Given the description of an element on the screen output the (x, y) to click on. 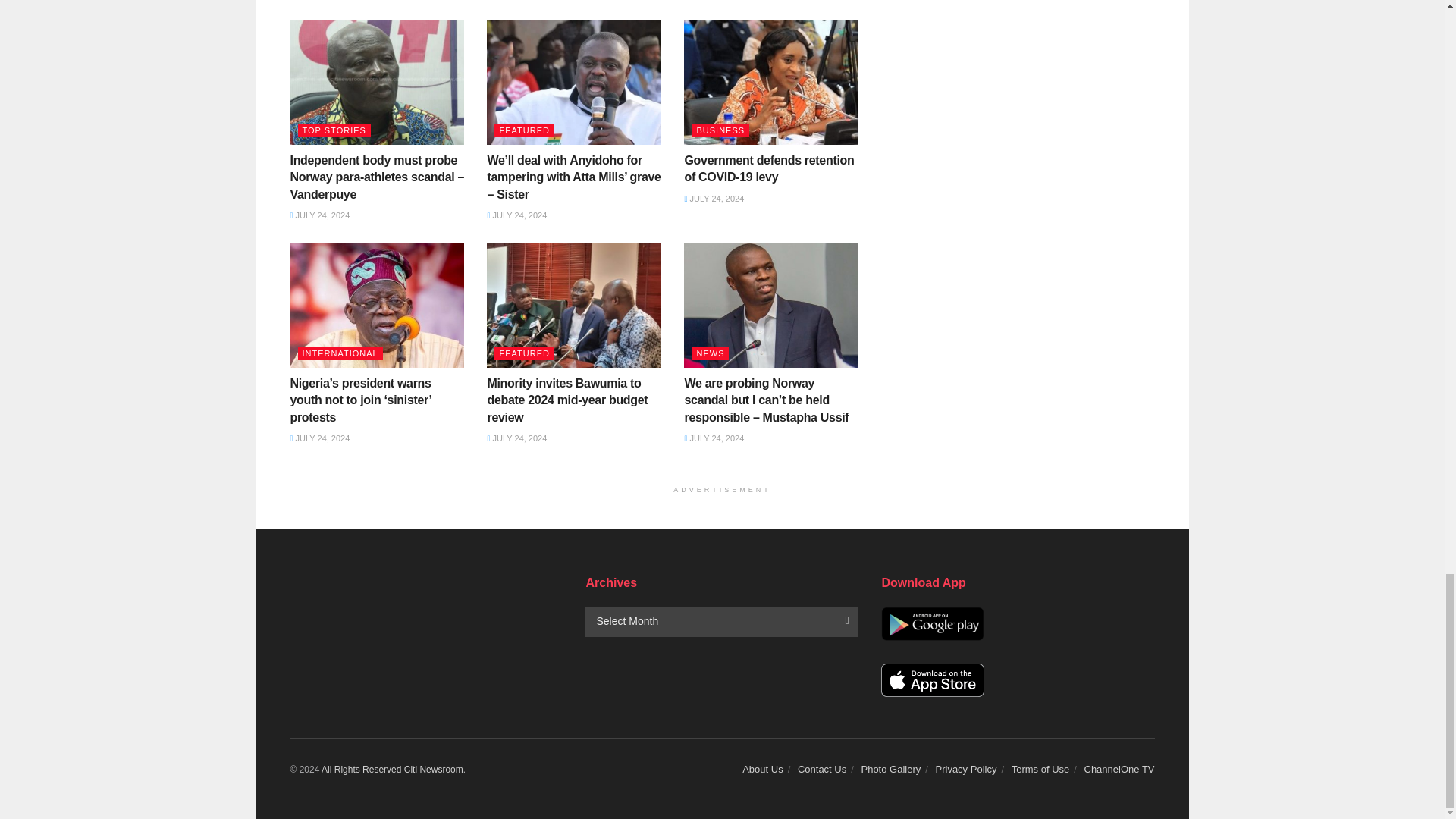
Citi Newsroom (433, 769)
App Store (932, 680)
Google Play (932, 623)
Citi Newsroom (361, 769)
